Given the description of an element on the screen output the (x, y) to click on. 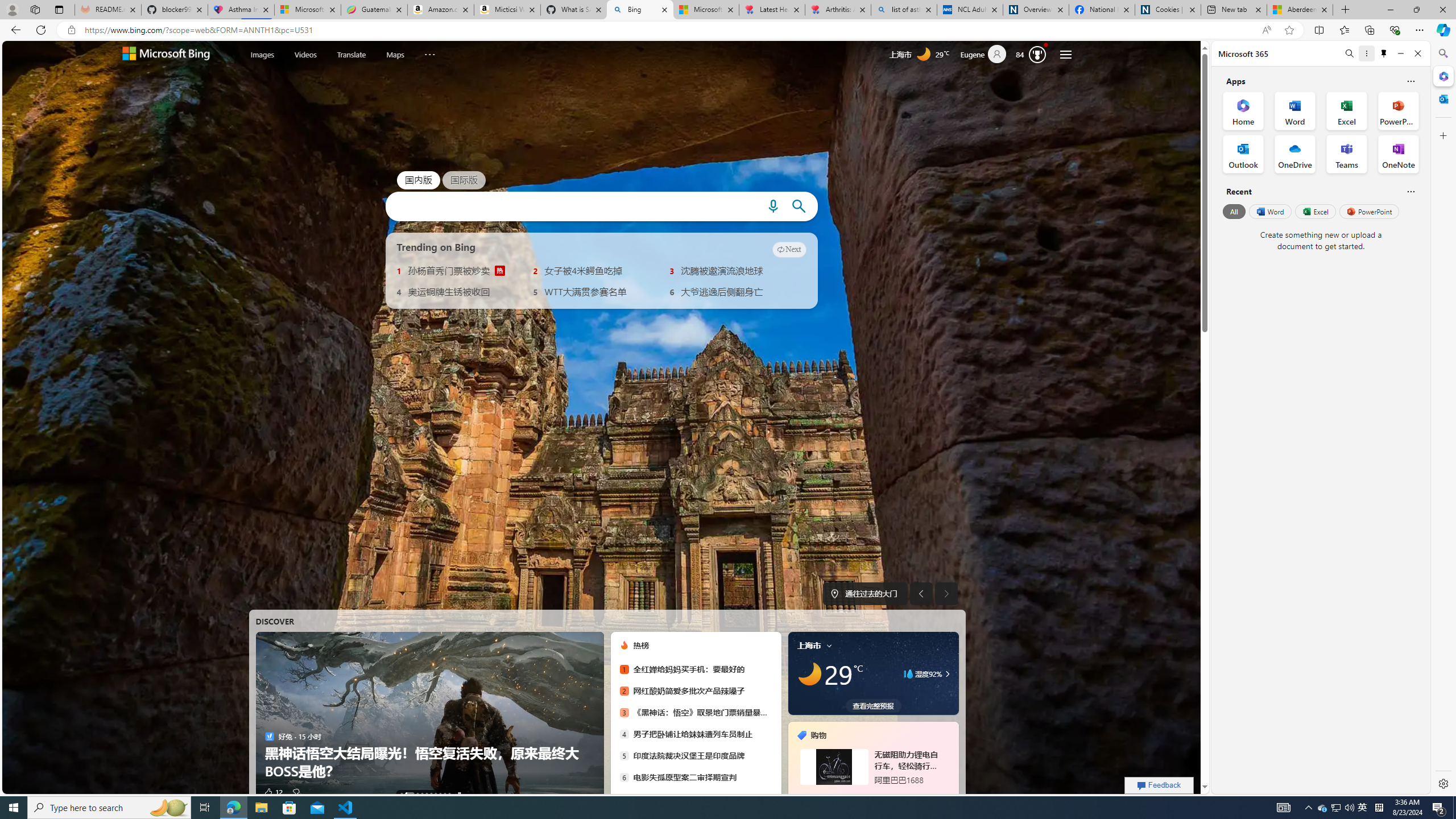
Search using voice (772, 205)
Next (788, 248)
Images (261, 54)
Welcome to Bing Search (165, 54)
